Given the description of an element on the screen output the (x, y) to click on. 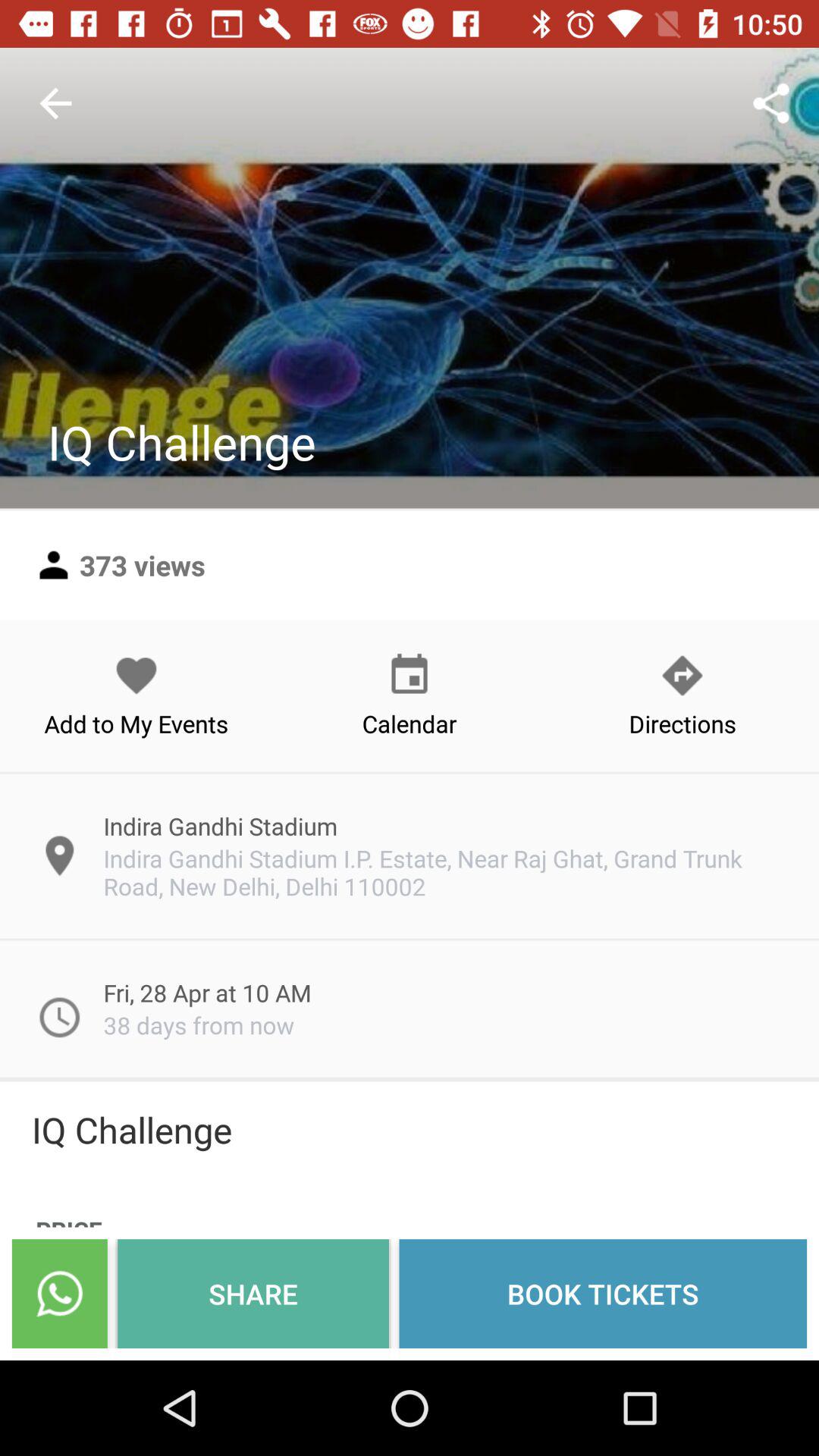
click calendar icon (409, 695)
